Given the description of an element on the screen output the (x, y) to click on. 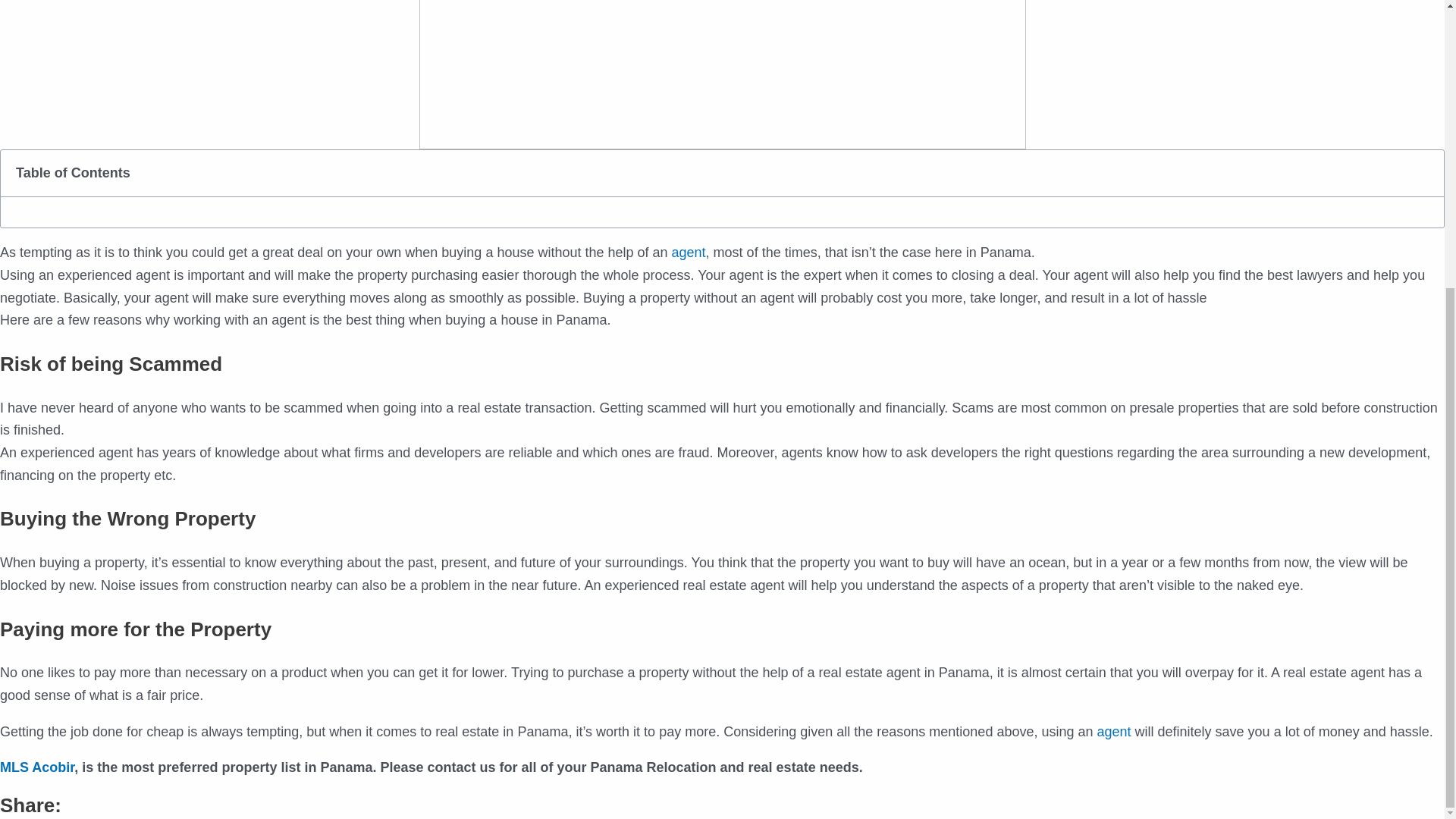
MLS Acobir (37, 767)
agent (688, 252)
agent (1113, 731)
